Given the description of an element on the screen output the (x, y) to click on. 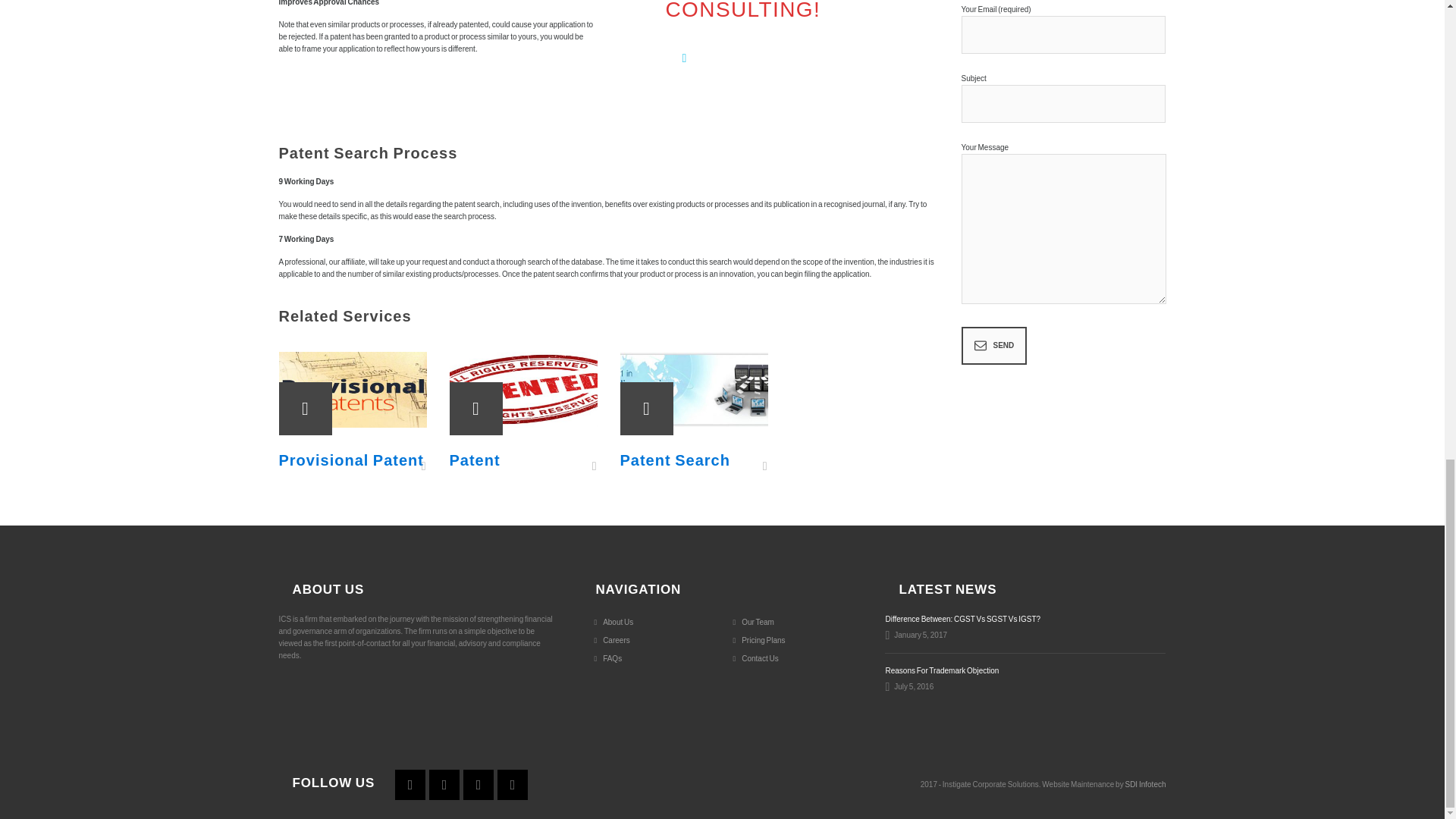
Send (993, 345)
